Given the description of an element on the screen output the (x, y) to click on. 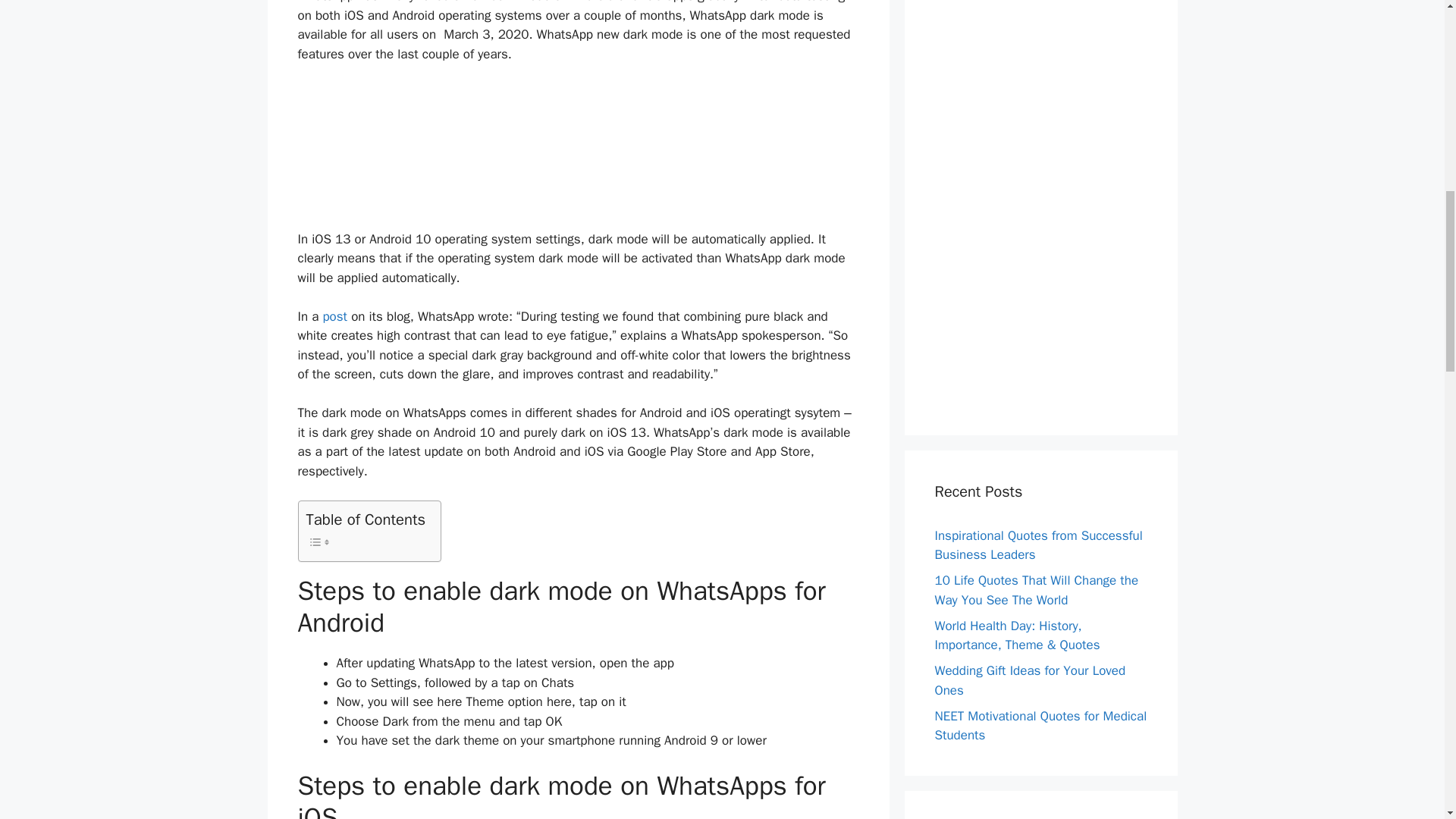
post (334, 316)
